Given the description of an element on the screen output the (x, y) to click on. 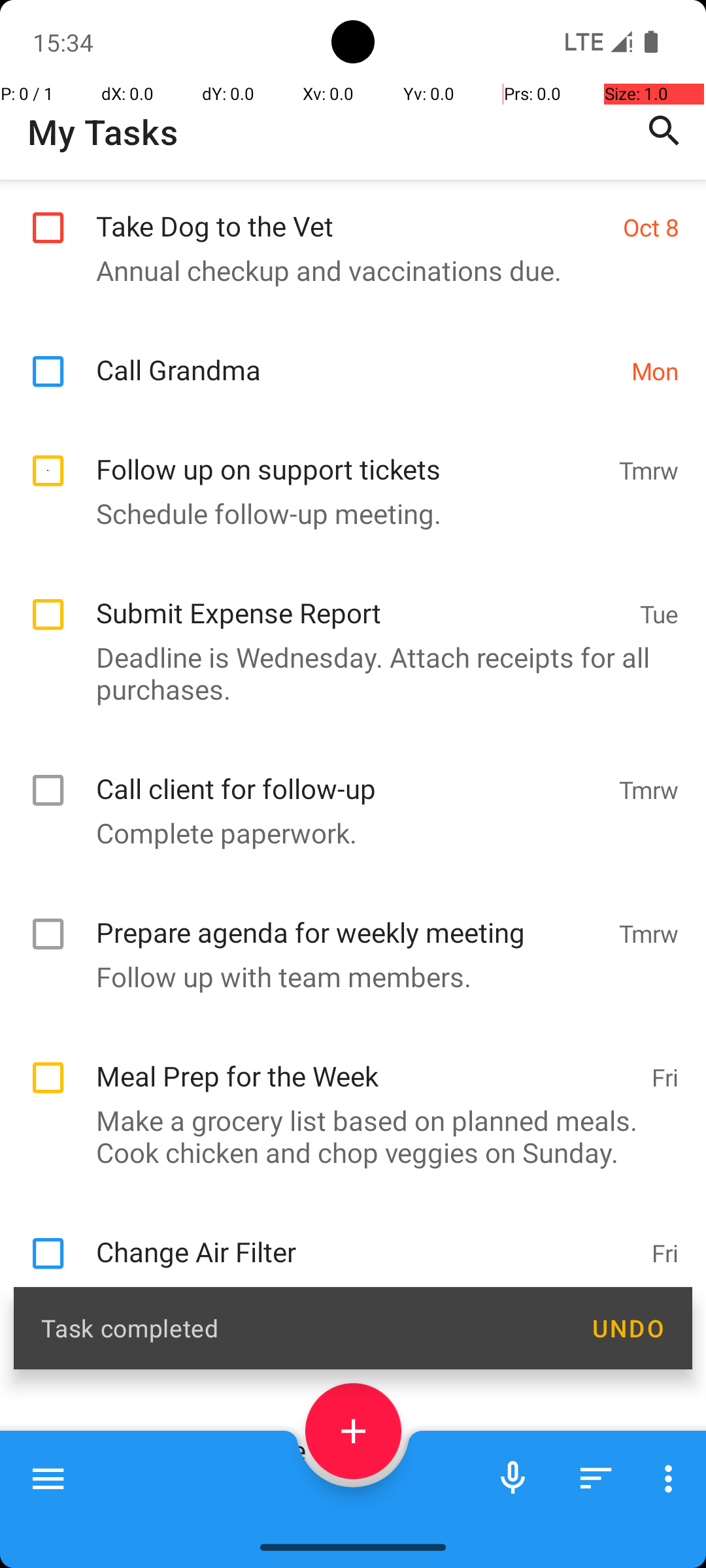
Task completed Element type: android.widget.TextView (302, 1327)
UNDO Element type: android.widget.Button (627, 1328)
Take Dog to the Vet Element type: android.widget.TextView (352, 211)
Annual checkup and vaccinations due. Element type: android.widget.TextView (346, 269)
Oct 8 Element type: android.widget.TextView (650, 226)
Call Grandma Element type: android.widget.TextView (356, 355)
Mon Element type: android.widget.TextView (654, 370)
Follow up on support tickets Element type: android.widget.TextView (350, 489)
Schedule follow-up meeting. Element type: android.widget.TextView (346, 547)
Tmrw Element type: android.widget.TextView (648, 504)
Submit Expense Report Element type: android.widget.TextView (361, 633)
Deadline is Wednesday. Attach receipts for all purchases. Element type: android.widget.TextView (346, 707)
Call client for follow-up Element type: android.widget.TextView (350, 808)
Complete paperwork. Element type: android.widget.TextView (346, 866)
Prepare agenda for weekly meeting Element type: android.widget.TextView (350, 952)
Follow up with team members. Element type: android.widget.TextView (346, 1010)
Meal Prep for the Week Element type: android.widget.TextView (367, 1096)
Make a grocery list based on planned meals. Cook chicken and chop veggies on Sunday. Element type: android.widget.TextView (346, 1170)
Change Air Filter Element type: android.widget.TextView (367, 1272)
Finish Project Proposal Element type: android.widget.TextView (363, 1371)
Sat Element type: android.widget.TextView (661, 1376)
Clean Out Fridge Element type: android.widget.TextView (357, 1162)
